Given the description of an element on the screen output the (x, y) to click on. 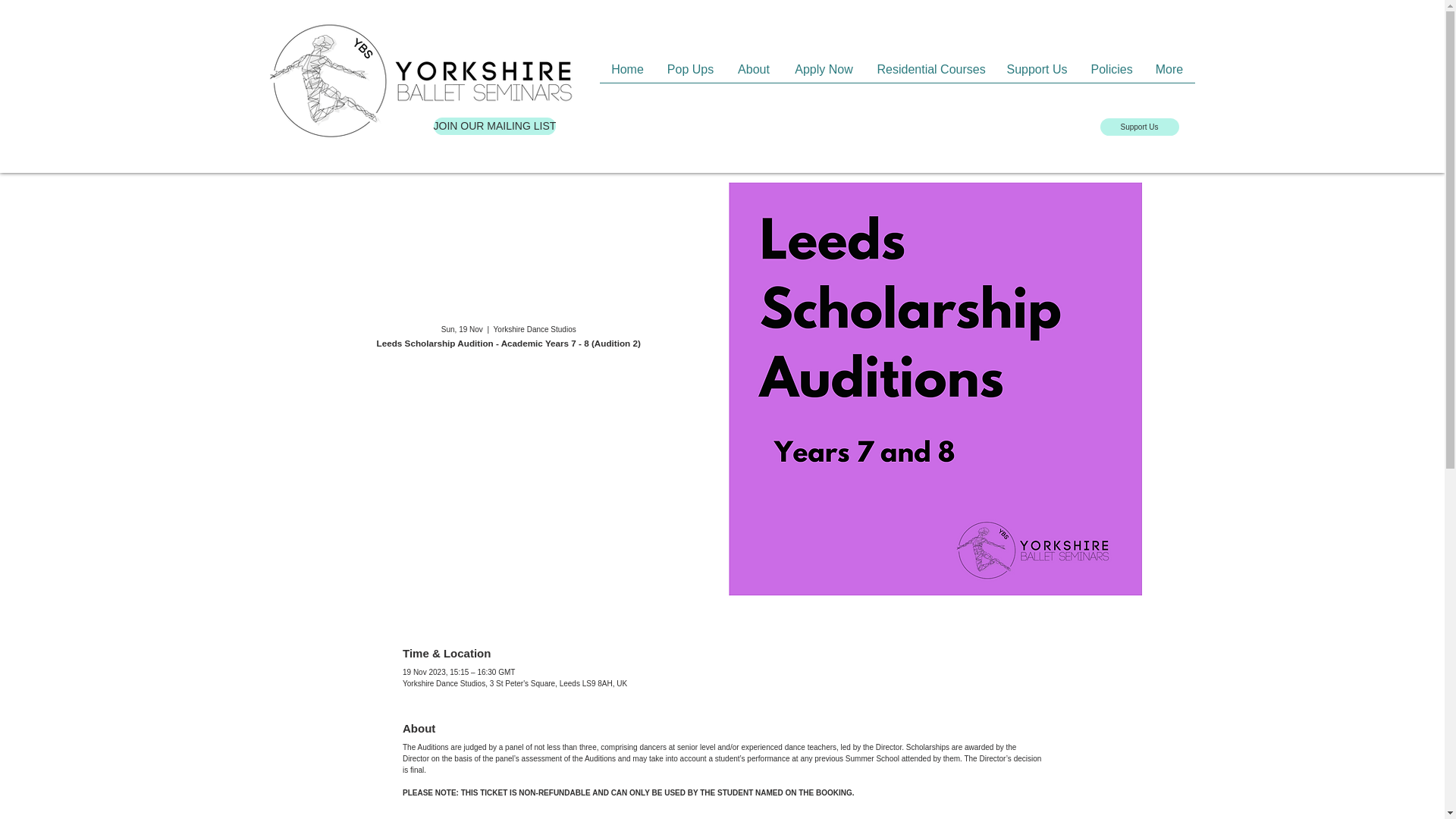
Support Us (1037, 74)
JOIN OUR MAILING LIST (494, 126)
Policies (1112, 74)
Apply Now (824, 74)
See other events (508, 422)
About (753, 74)
Home (626, 74)
Pop Ups (690, 74)
Residential Courses (930, 74)
Support Us (1138, 126)
